Given the description of an element on the screen output the (x, y) to click on. 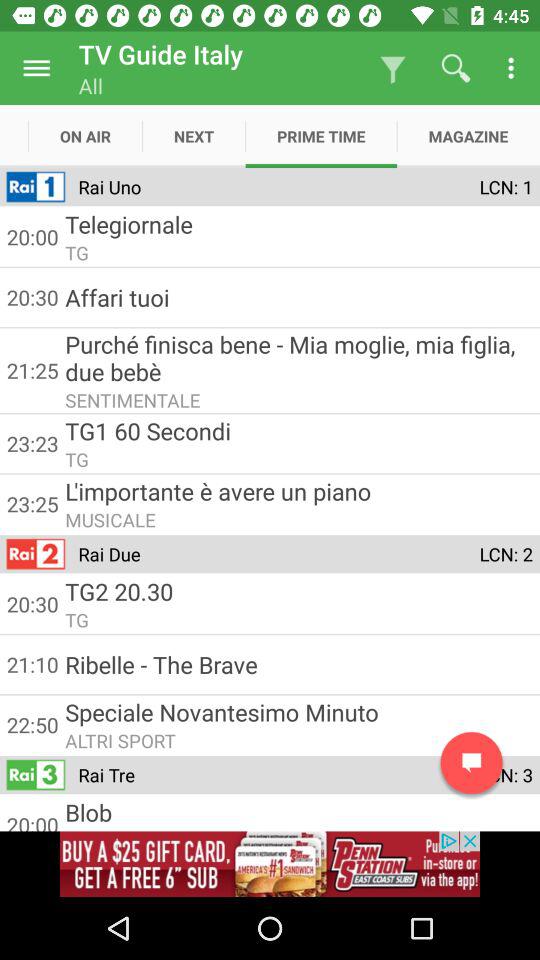
start chat (471, 762)
